Given the description of an element on the screen output the (x, y) to click on. 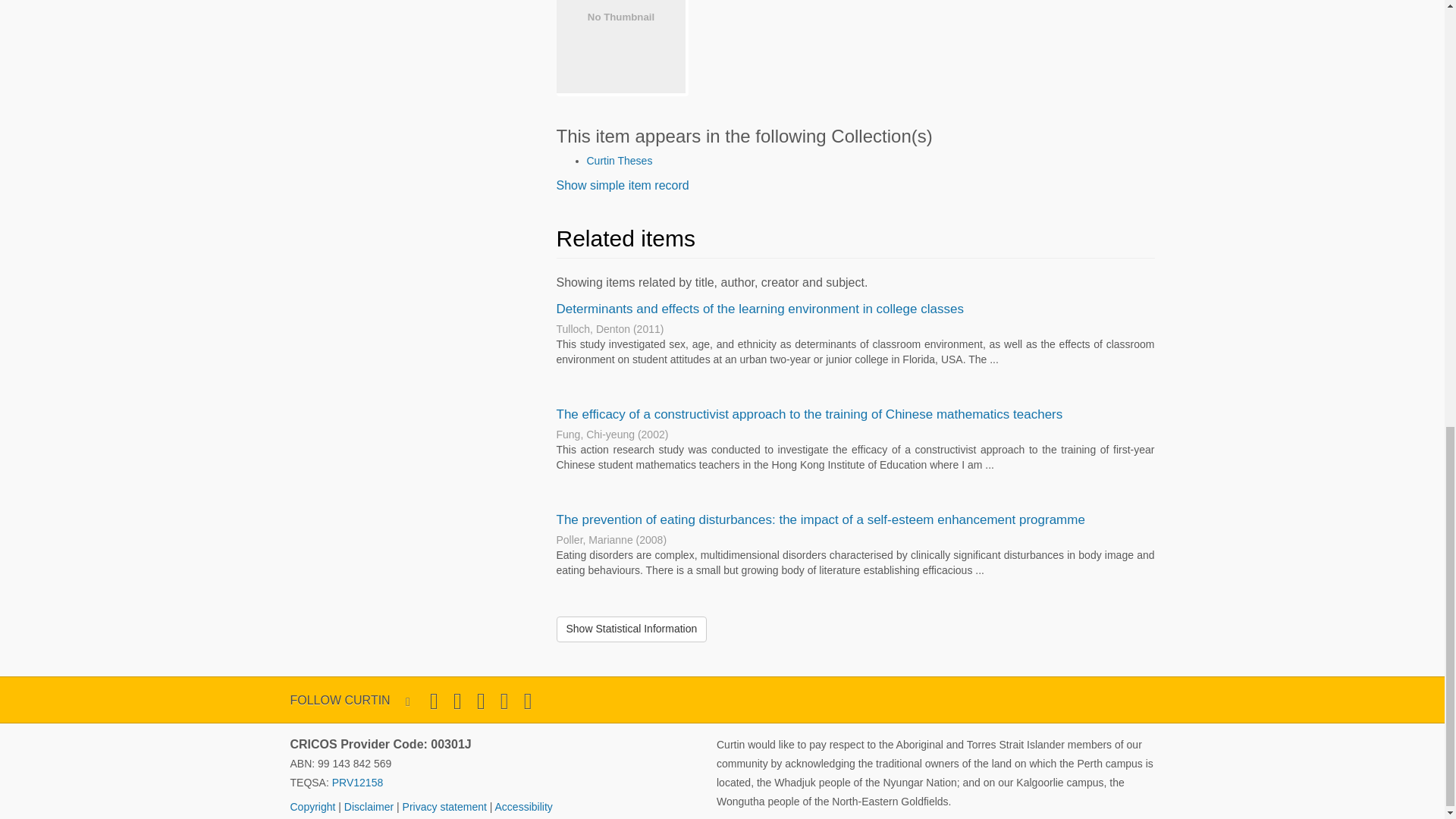
Follow Curtin University on Instagram (480, 701)
Follow Curtin University on Twitter (433, 701)
Show Statistical Information (631, 629)
Curtin Theses (619, 160)
Follow Curtin University on YouTube (504, 701)
Show simple item record (622, 185)
Like Curtin University on Facebook (456, 701)
Follow Curtin University on LinkedIn (528, 701)
